Given the description of an element on the screen output the (x, y) to click on. 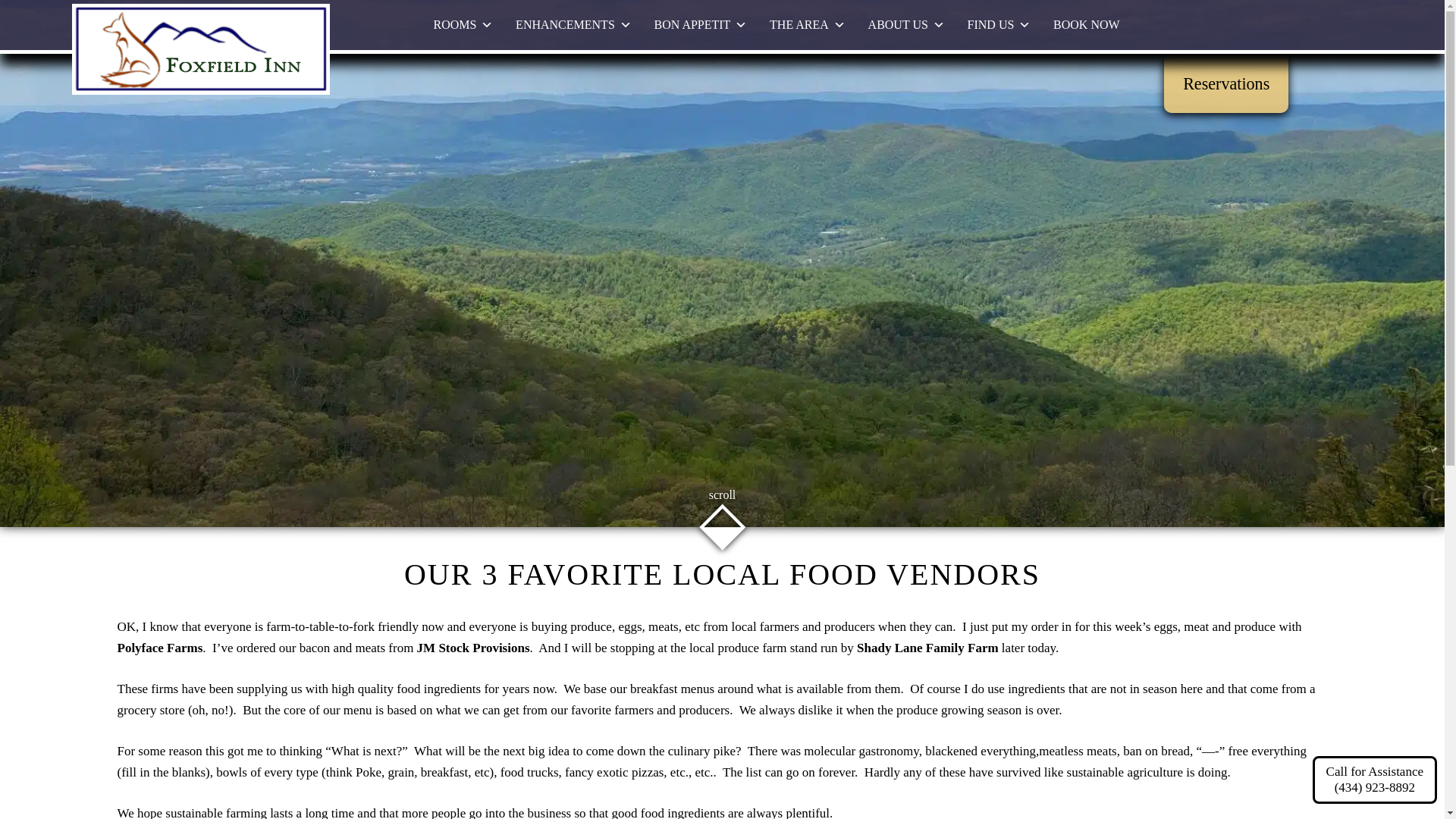
BON APPETIT (699, 24)
ABOUT US (905, 24)
ROOMS (463, 24)
THE AREA (807, 24)
Foxfield Inn (200, 90)
Desk top Only (463, 24)
FIND US (999, 24)
ENHANCEMENTS (573, 24)
